Given the description of an element on the screen output the (x, y) to click on. 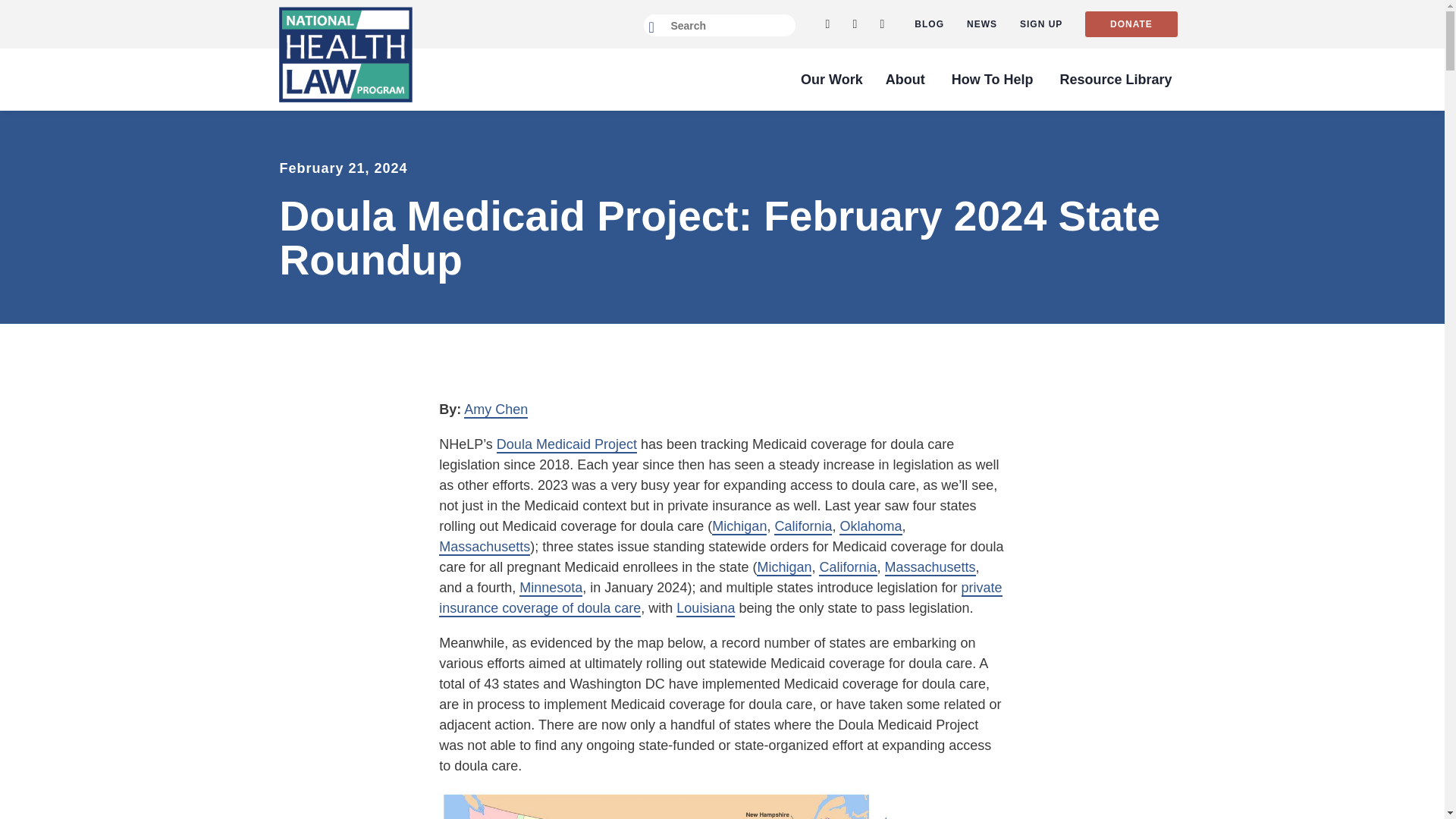
NEWS (982, 23)
Go to National Health Law Program Home. (346, 54)
Go to National Health Law Program Linkedin Profile. (881, 23)
Go to the About Page (905, 79)
SIGN UP (1041, 23)
Go to the Sign Up Page (1041, 23)
Go to the Our Work Page (832, 79)
BLOG (928, 23)
DONATE (1130, 23)
Go to National Health Law Program Facebook Profile. (854, 23)
Go to the Blog Page (928, 23)
Our Work (832, 79)
Go to the News Page (982, 23)
Go to National Health Law Program Twitter Channel. (827, 23)
About (905, 79)
